Given the description of an element on the screen output the (x, y) to click on. 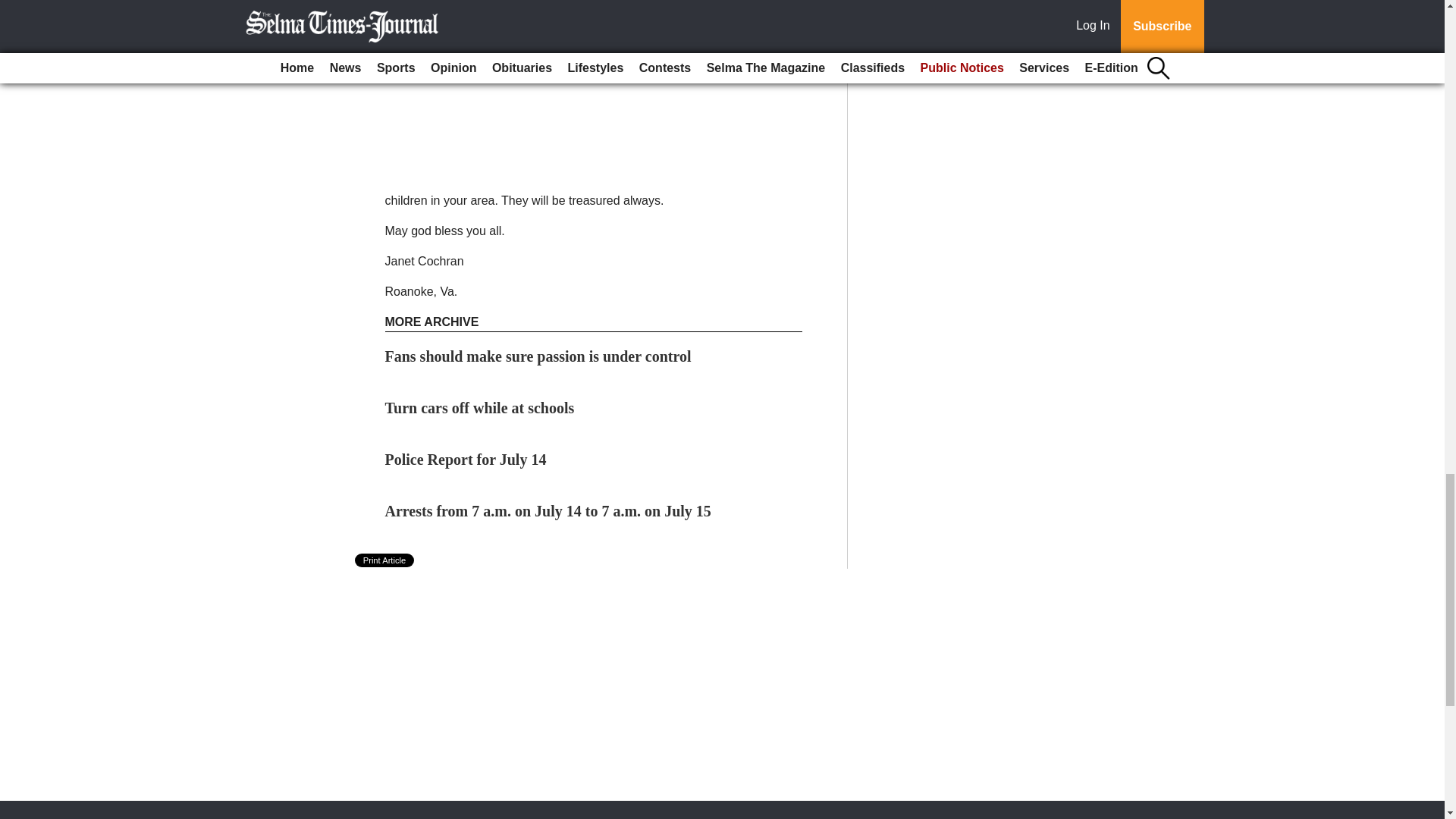
Fans should make sure passion is under control (538, 356)
Police Report for July 14 (466, 459)
Turn cars off while at schools (480, 407)
Print Article (384, 560)
Turn cars off while at schools (480, 407)
Arrests from 7 a.m. on July 14 to 7 a.m. on July 15 (548, 510)
Police Report for July 14 (466, 459)
Arrests from 7 a.m. on July 14 to 7 a.m. on July 15 (548, 510)
Fans should make sure passion is under control (538, 356)
